Given the description of an element on the screen output the (x, y) to click on. 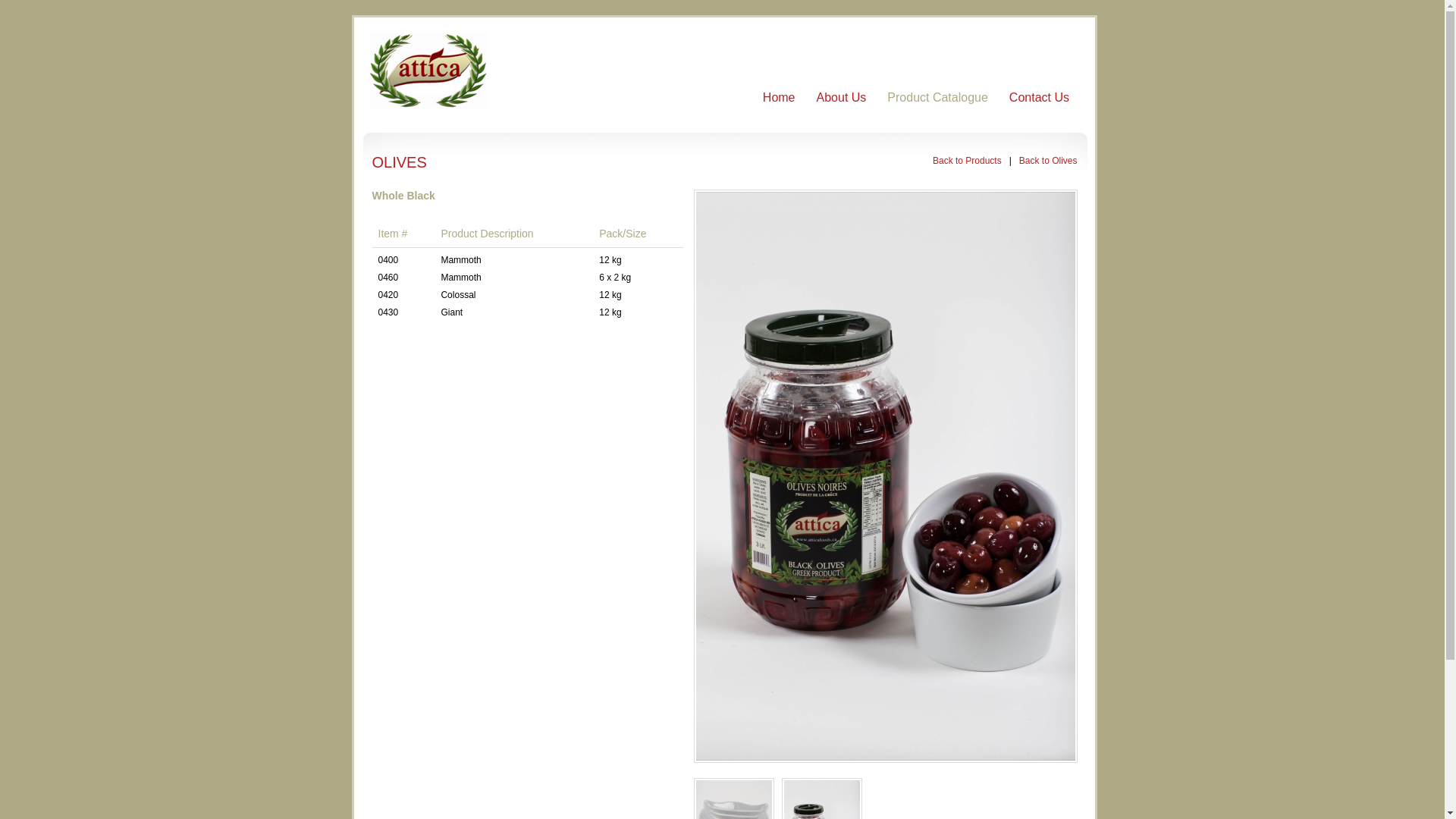
[attica-logo-small.png] Element type: hover (428, 70)
Whole Black Element type: hover (884, 475)
Contact Us Element type: text (1038, 97)
Back to Products Element type: text (966, 160)
Product Catalogue Element type: text (937, 97)
Home Element type: text (779, 97)
Back to Olives Element type: text (1048, 160)
About Us Element type: text (841, 97)
